Given the description of an element on the screen output the (x, y) to click on. 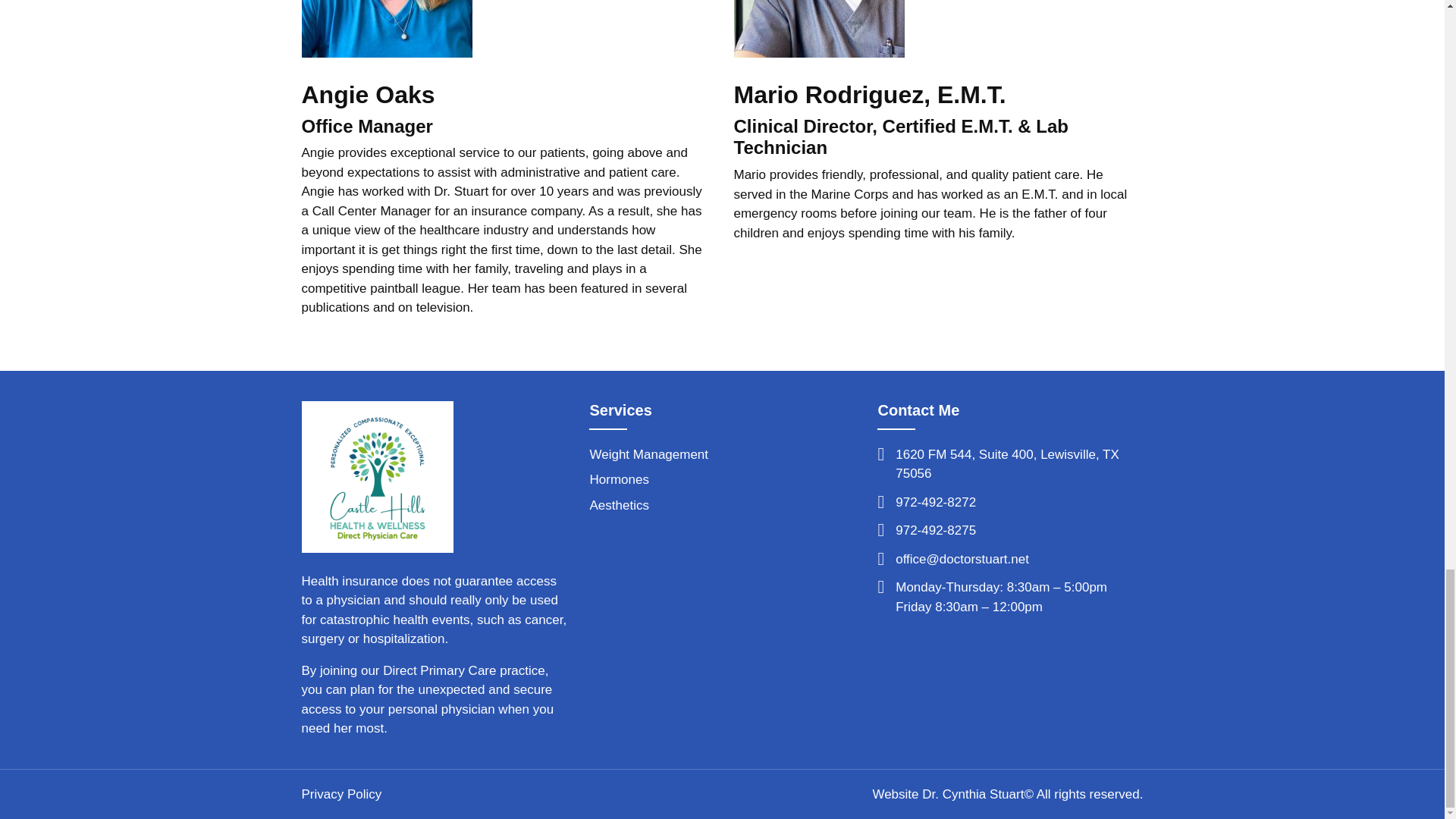
Angie Oaks, Office Manager (386, 28)
Website (895, 794)
Weight Management (648, 454)
Aesthetics (618, 504)
Hormones (618, 479)
972-492-8272 (935, 502)
Privacy Policy (341, 794)
Mario Rodriquez, Clinical Director (818, 28)
Dr. Cynthia Stuart (376, 475)
